Given the description of an element on the screen output the (x, y) to click on. 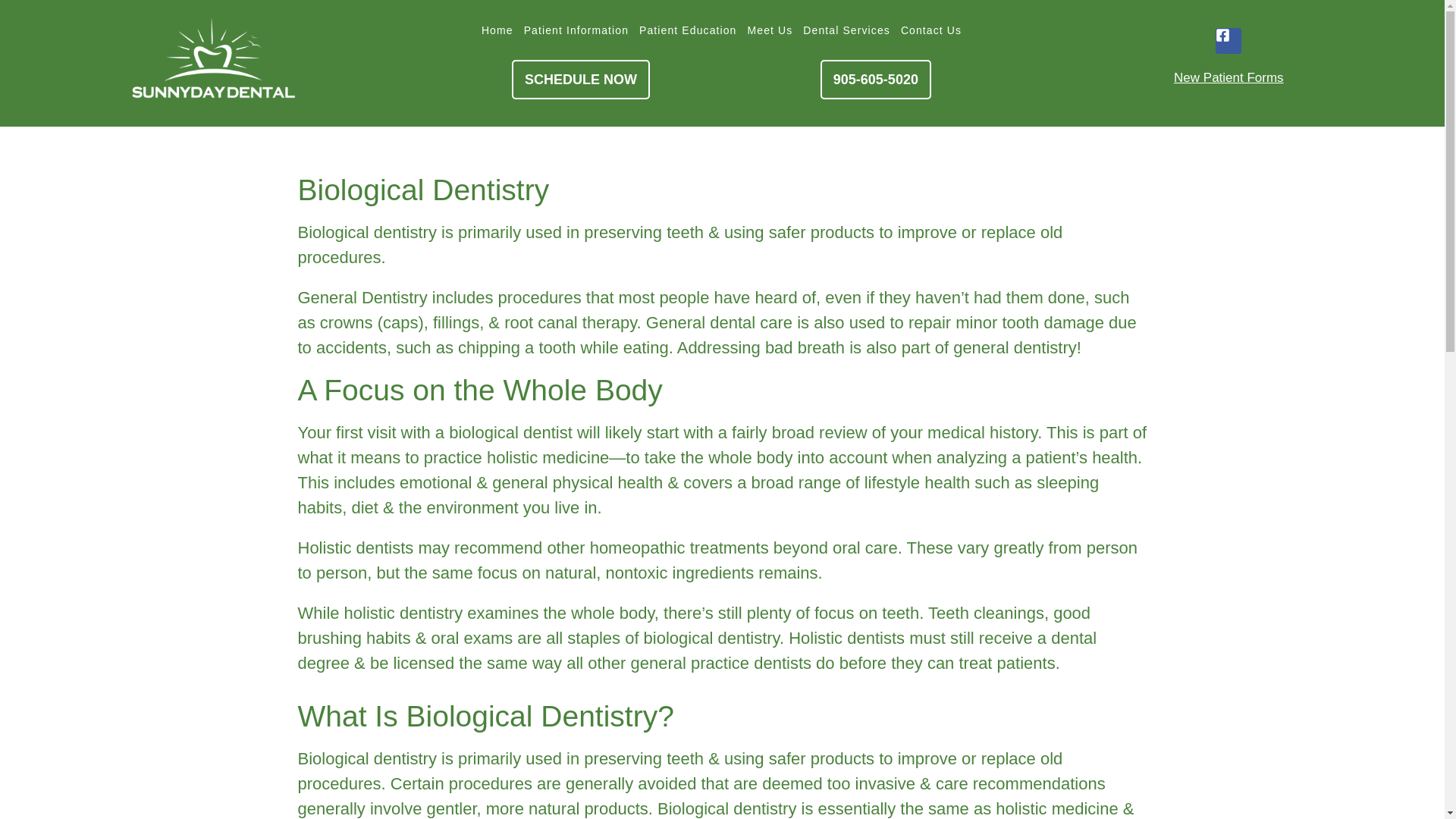
Meet Us (769, 30)
Patient Information (575, 30)
Patient Education (687, 30)
Home (497, 30)
Dental Services (846, 30)
